Given the description of an element on the screen output the (x, y) to click on. 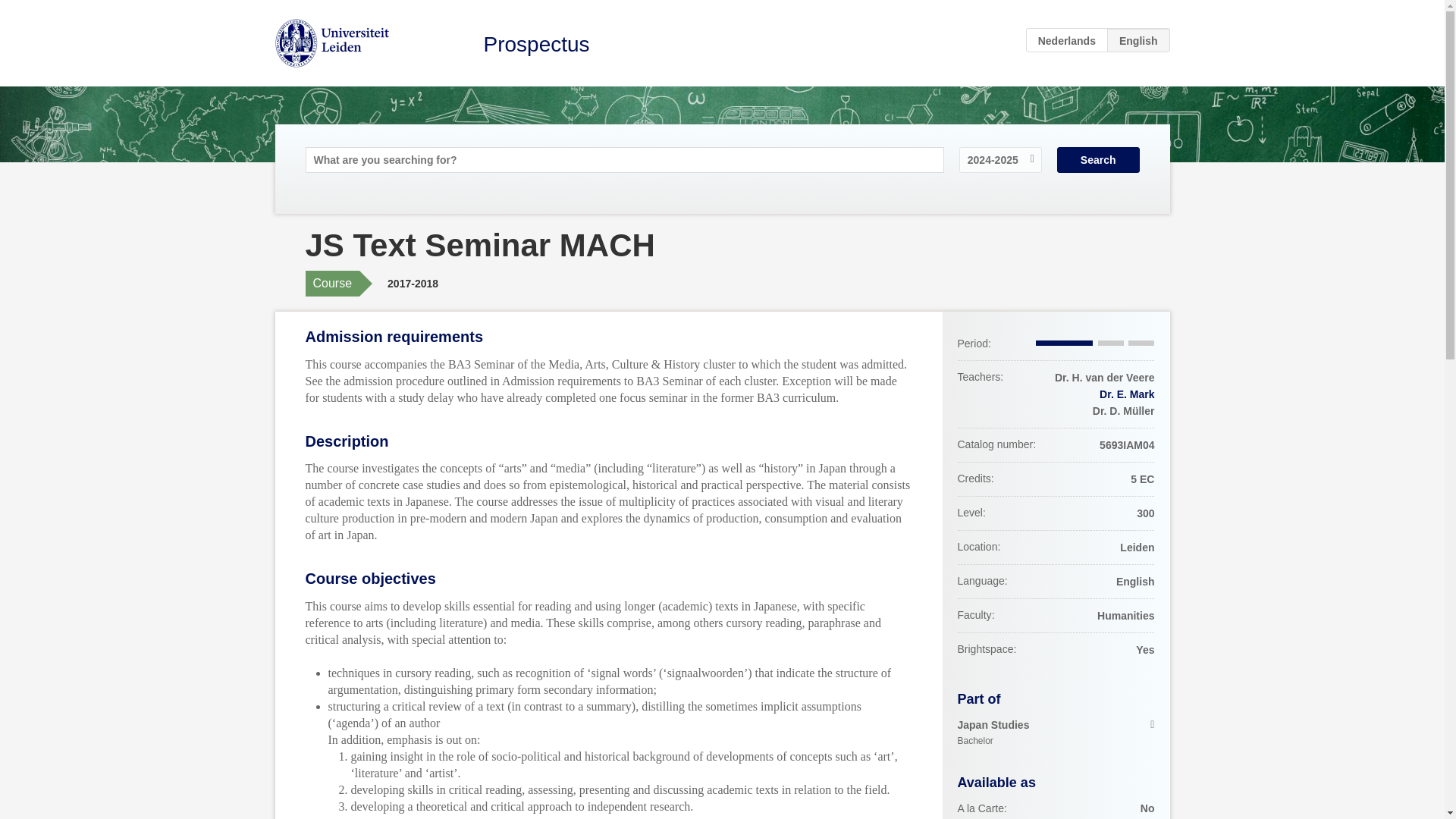
Prospectus (536, 44)
Dr. E. Mark (1126, 394)
NL (1067, 39)
Search (1098, 159)
